Given the description of an element on the screen output the (x, y) to click on. 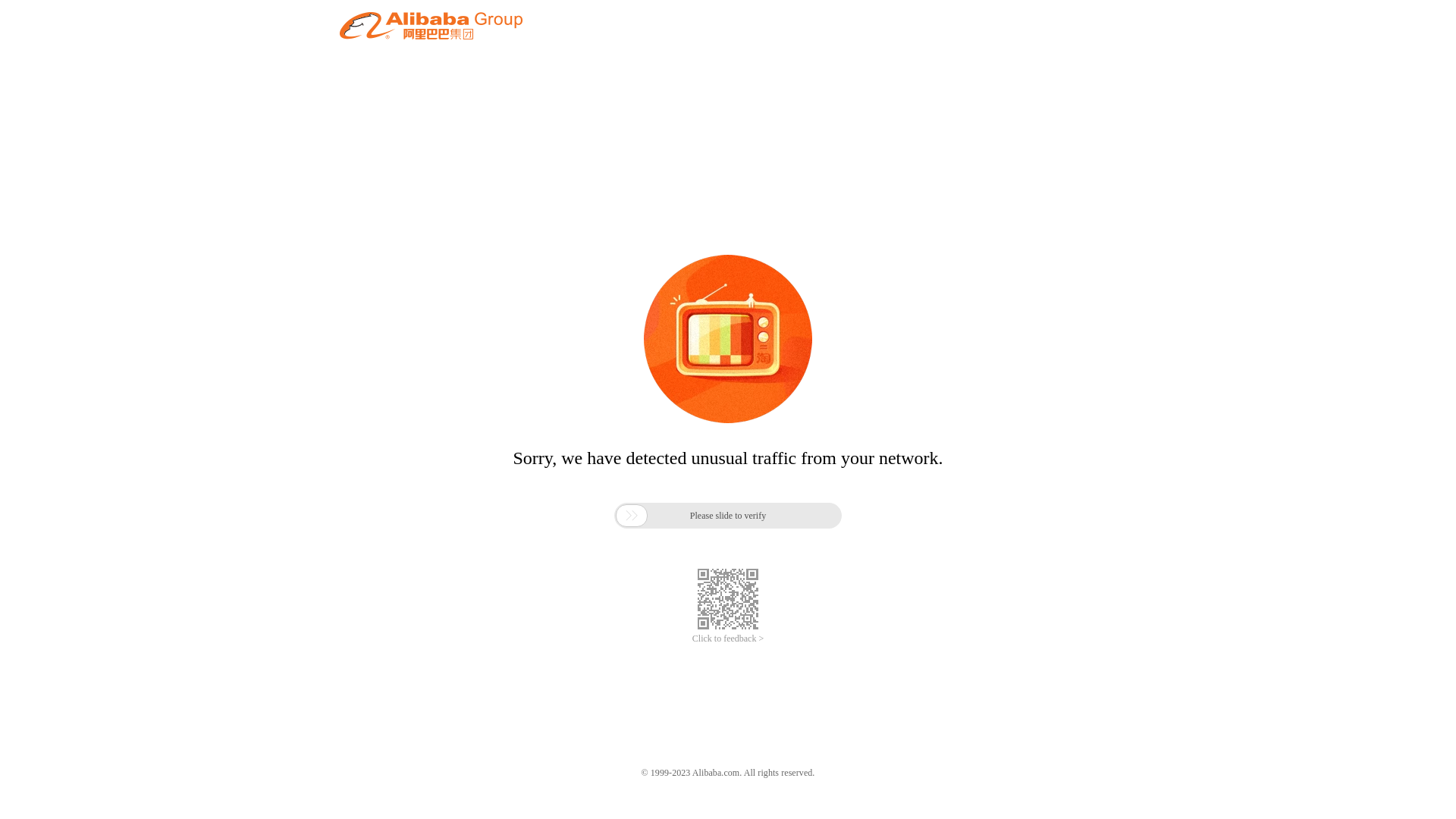
Click to feedback > Element type: text (727, 638)
